Given the description of an element on the screen output the (x, y) to click on. 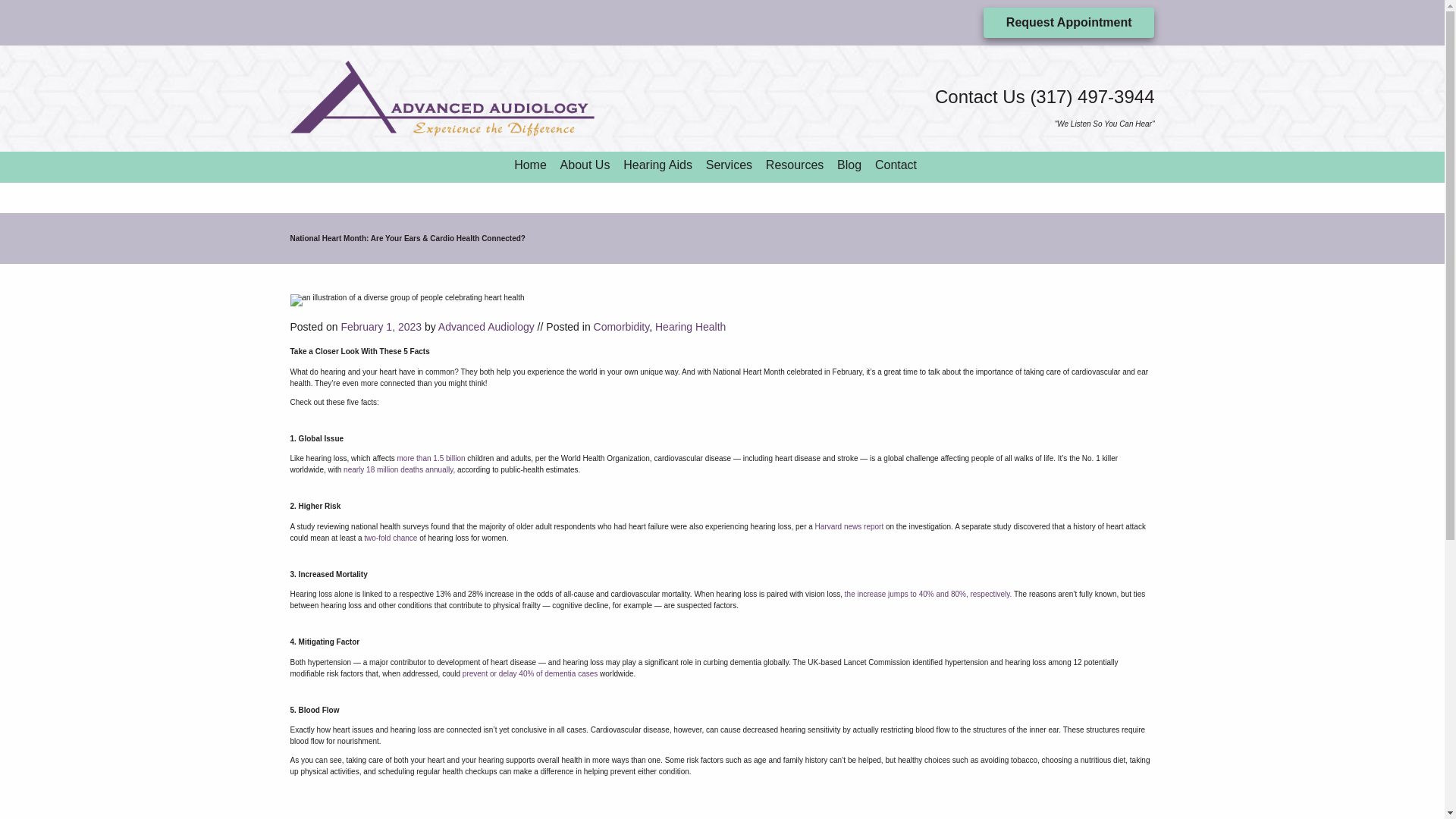
Hearing Aids (658, 164)
Resources (794, 164)
About Us (585, 164)
Request Appointment (1069, 22)
Home (530, 164)
Services (729, 164)
